Given the description of an element on the screen output the (x, y) to click on. 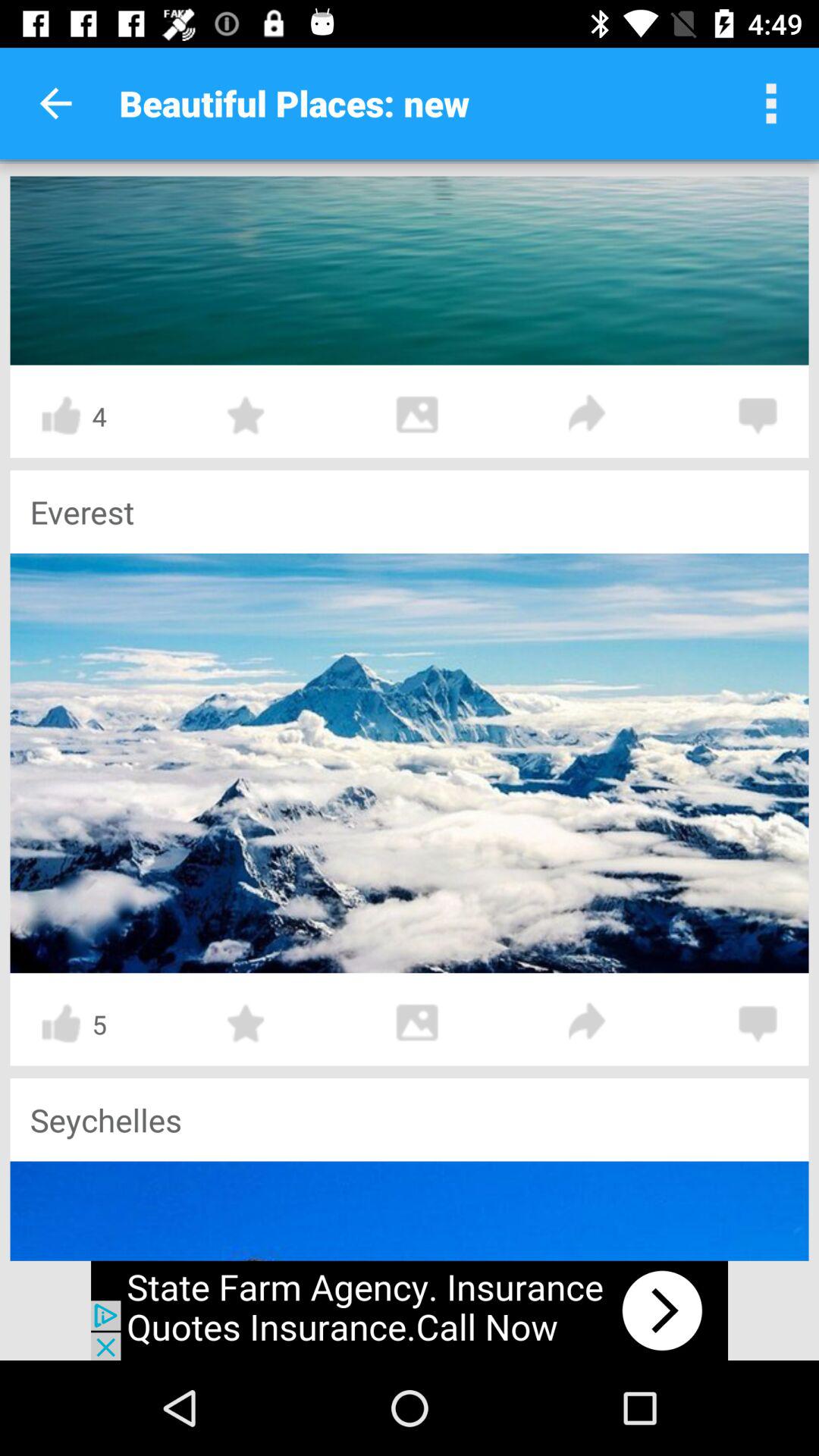
select star (246, 415)
